Given the description of an element on the screen output the (x, y) to click on. 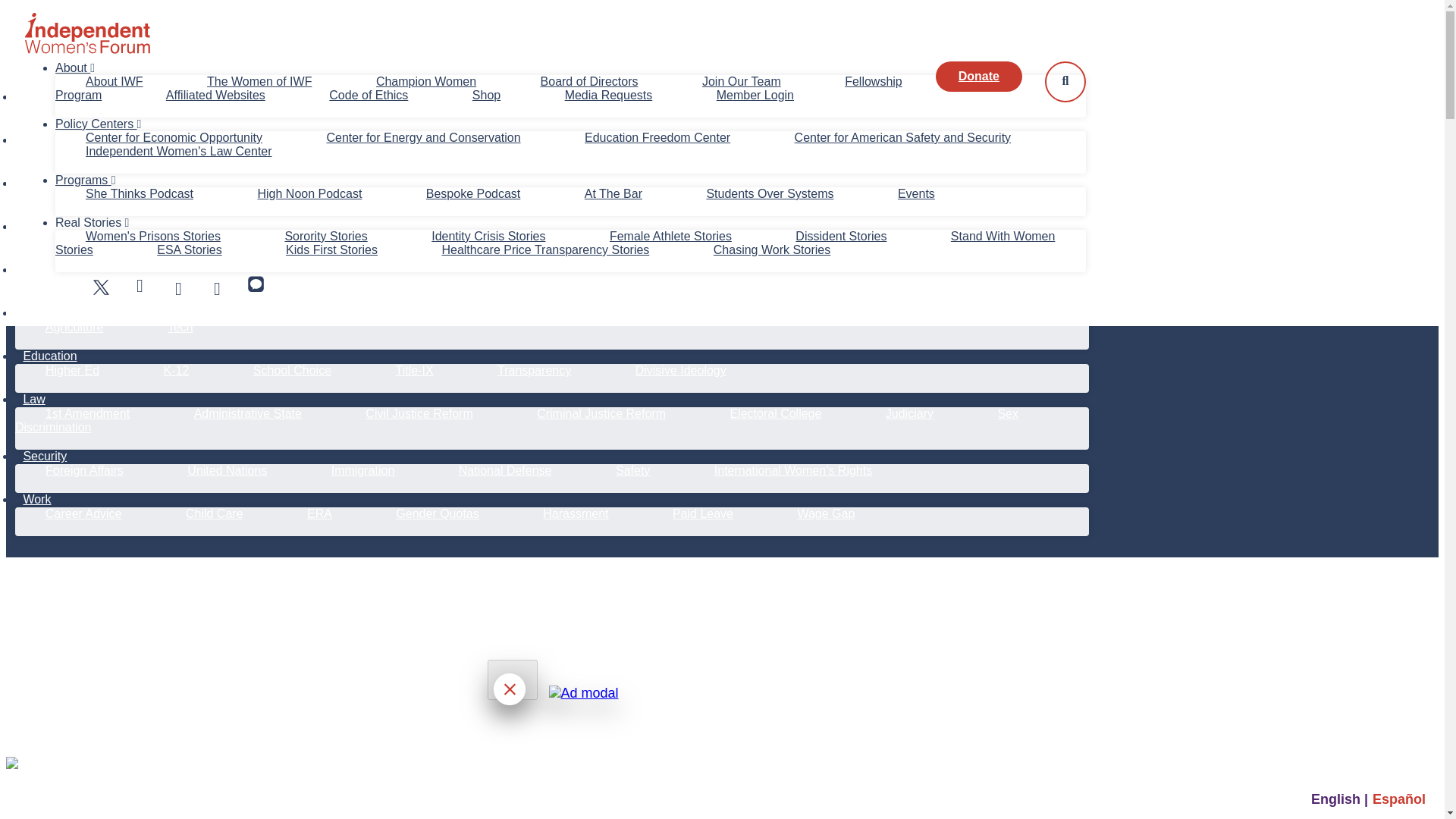
Donate (979, 76)
At The Bar (613, 193)
Join Our Team (740, 81)
Education Freedom Center (657, 137)
ESA Stories (188, 249)
Center for Economic Opportunity (173, 137)
About (74, 67)
She Thinks Podcast (139, 193)
Center for American Safety and Security (902, 137)
Policy Centers (98, 123)
Bespoke Podcast (473, 193)
Fellowship Program (478, 87)
Dissident Stories (841, 235)
The Women of IWF (259, 81)
Independent Women's Law Center (178, 151)
